Given the description of an element on the screen output the (x, y) to click on. 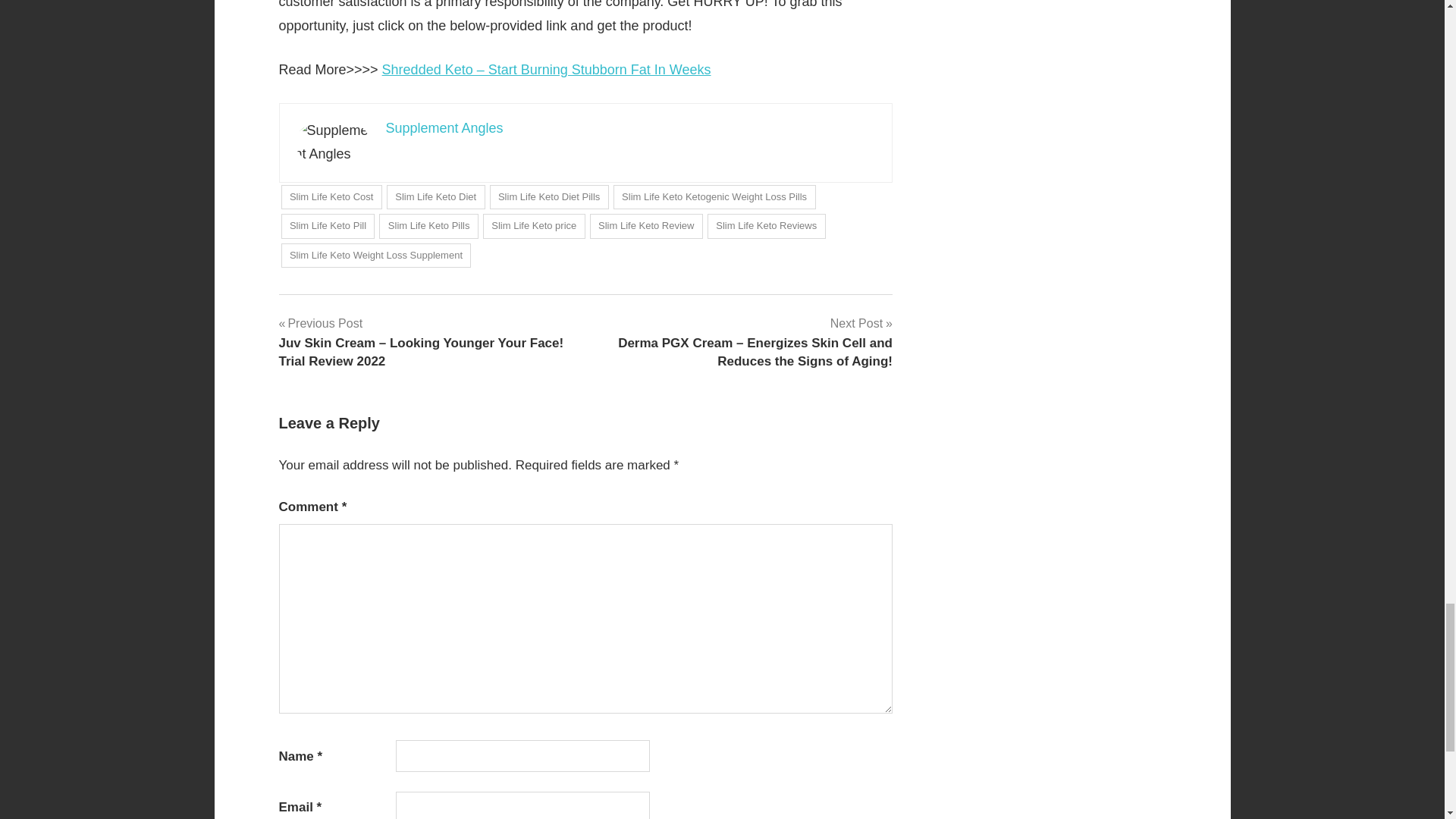
Slim Life Keto Weight Loss Supplement (375, 255)
Slim Life Keto Pills (427, 226)
Slim Life Keto price (534, 226)
Slim Life Keto Diet Pills (548, 197)
Slim Life Keto Pill (327, 226)
Slim Life Keto Ketogenic Weight Loss Pills (713, 197)
Supplement Angles (443, 127)
Slim Life Keto Reviews (766, 226)
Slim Life Keto Cost (331, 197)
Slim Life Keto Diet (435, 197)
Slim Life Keto Review (646, 226)
